Given the description of an element on the screen output the (x, y) to click on. 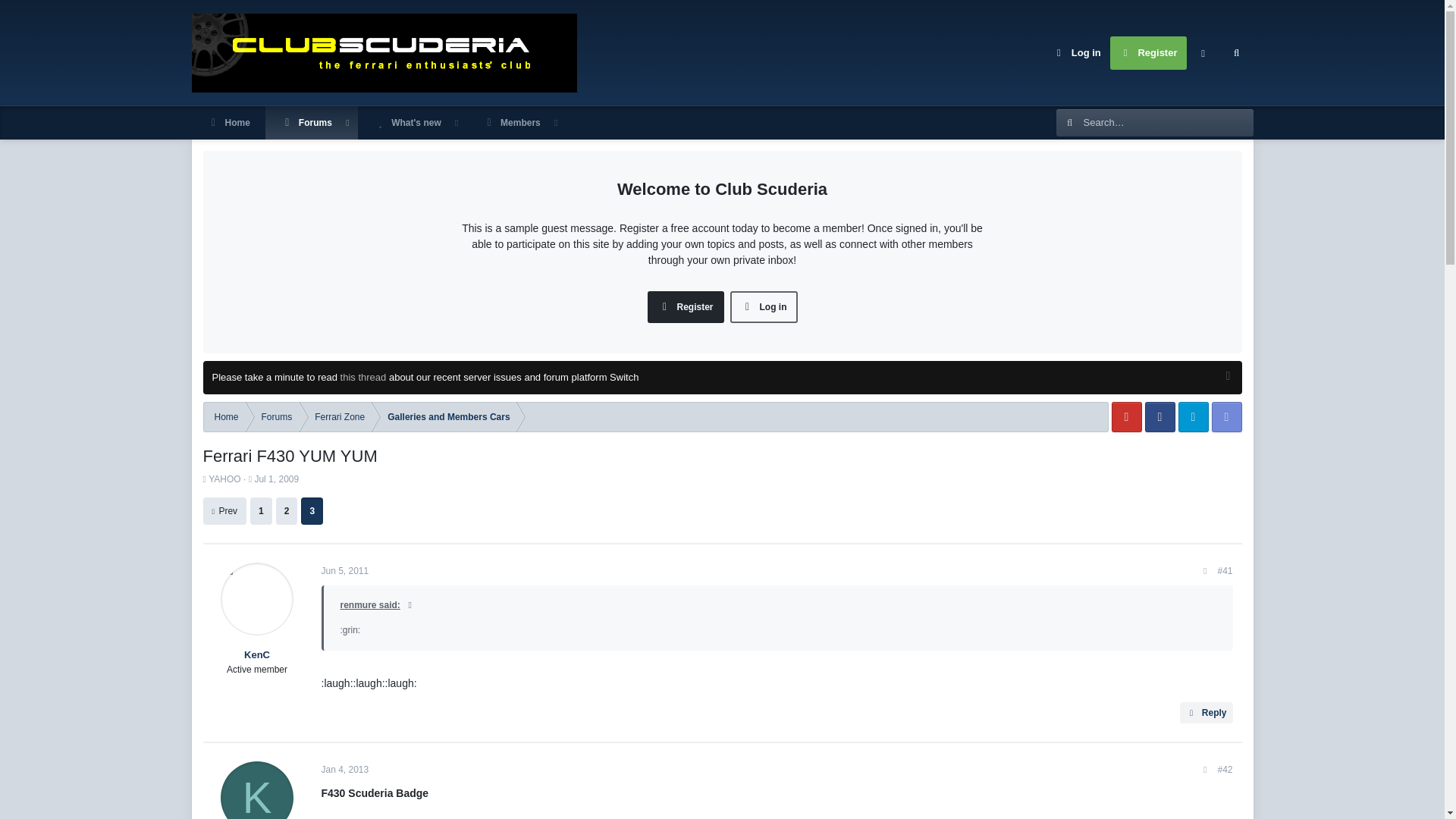
Search (1236, 52)
Forums (305, 122)
Customise (1203, 52)
Log in (1076, 52)
Dismiss notice (1225, 377)
Reply, quoting this message (1206, 712)
Members (511, 122)
What's new (407, 122)
this thread (363, 377)
Jan 4, 2013 at 12:42 AM (345, 769)
Jun 5, 2011 at 6:49 PM (345, 570)
Log in (763, 306)
Jul 1, 2009 at 10:39 PM (275, 478)
